Given the description of an element on the screen output the (x, y) to click on. 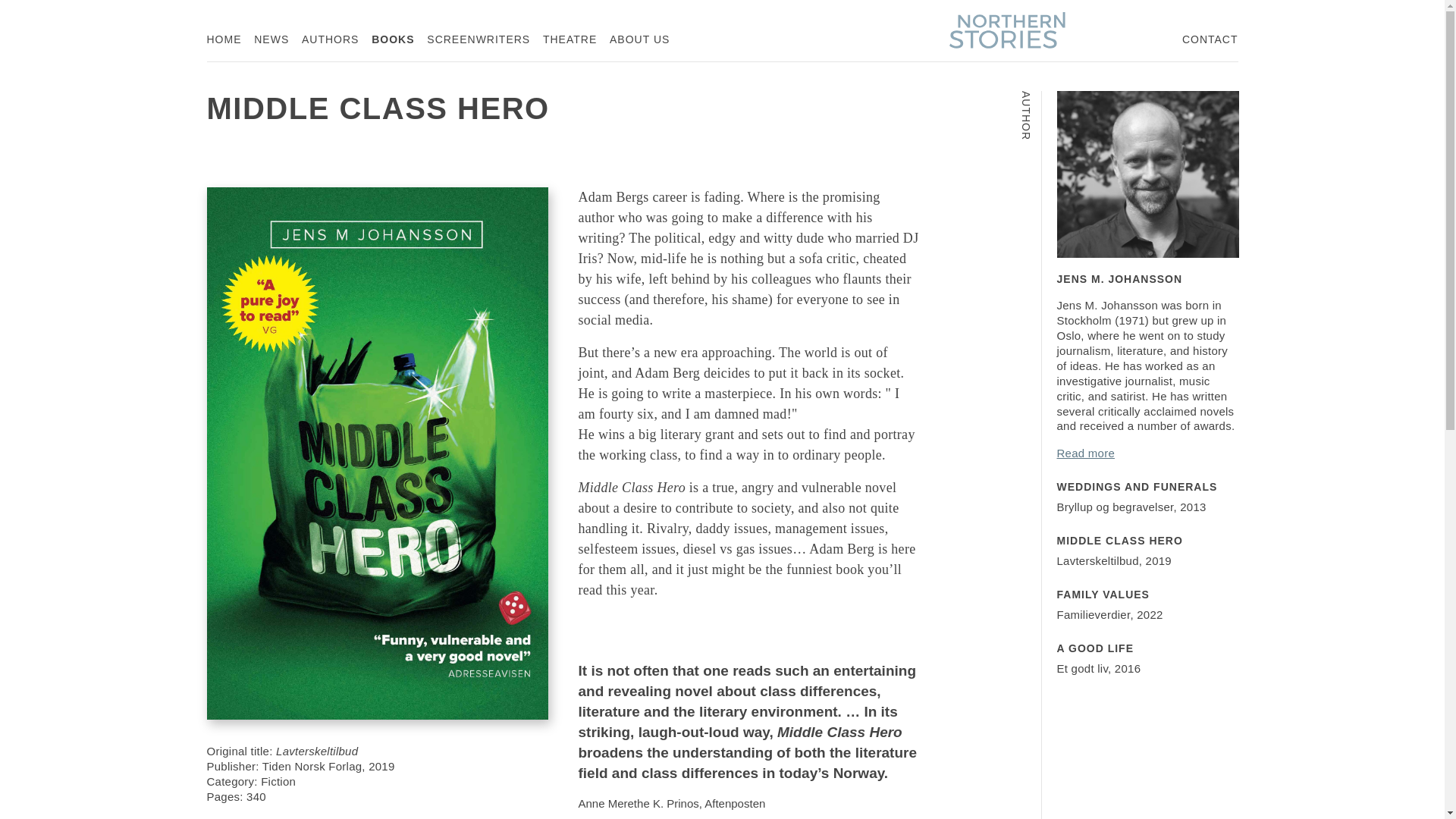
BOOKS (392, 39)
CONTACT (1210, 39)
Read more (1086, 452)
Have a look (236, 818)
AUTHORS (1148, 605)
THEATRE (1148, 659)
SCREENWRITERS (329, 39)
ABOUT US (569, 39)
HOME (477, 39)
NORTHERN STORIES (639, 39)
NEWS (223, 39)
